Given the description of an element on the screen output the (x, y) to click on. 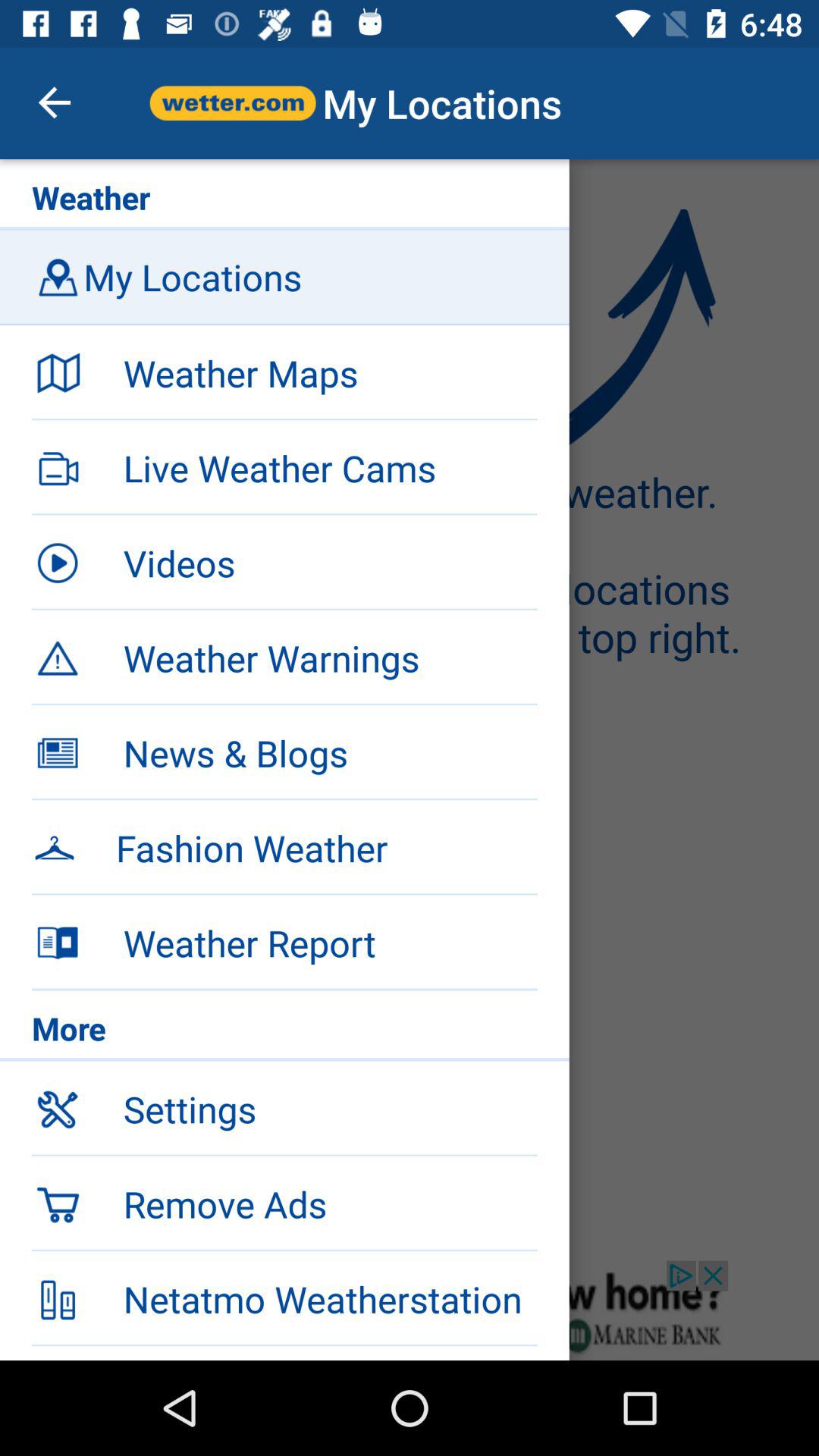
switch to select (409, 1310)
